Given the description of an element on the screen output the (x, y) to click on. 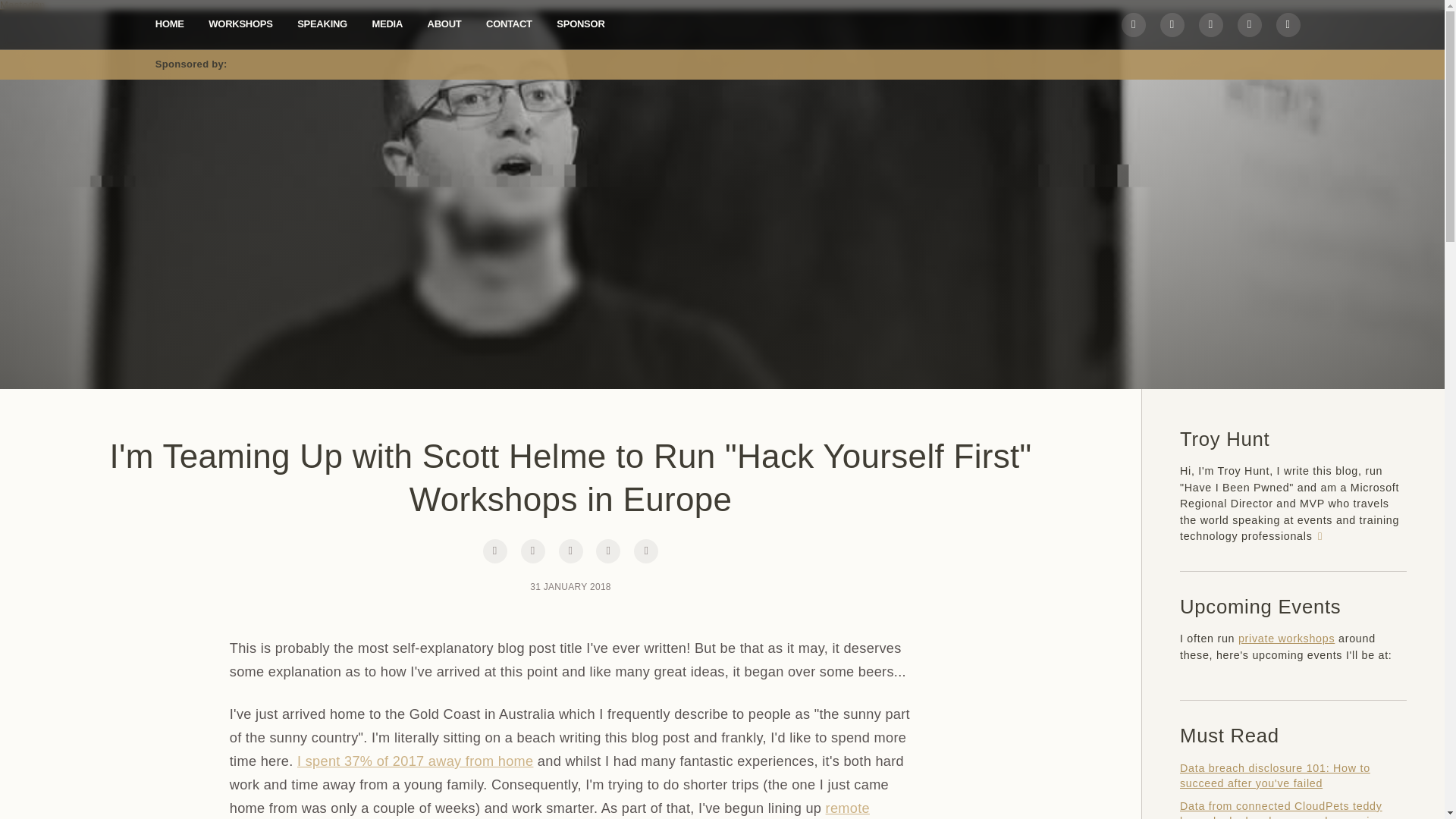
SPONSOR (580, 23)
CONTACT (509, 23)
MEDIA (387, 23)
SPEAKING (322, 23)
Mastodon (22, 5)
HOME (169, 23)
ABOUT (444, 23)
private workshops (1287, 638)
remote workshops (549, 809)
WORKSHOPS (240, 23)
